Given the description of an element on the screen output the (x, y) to click on. 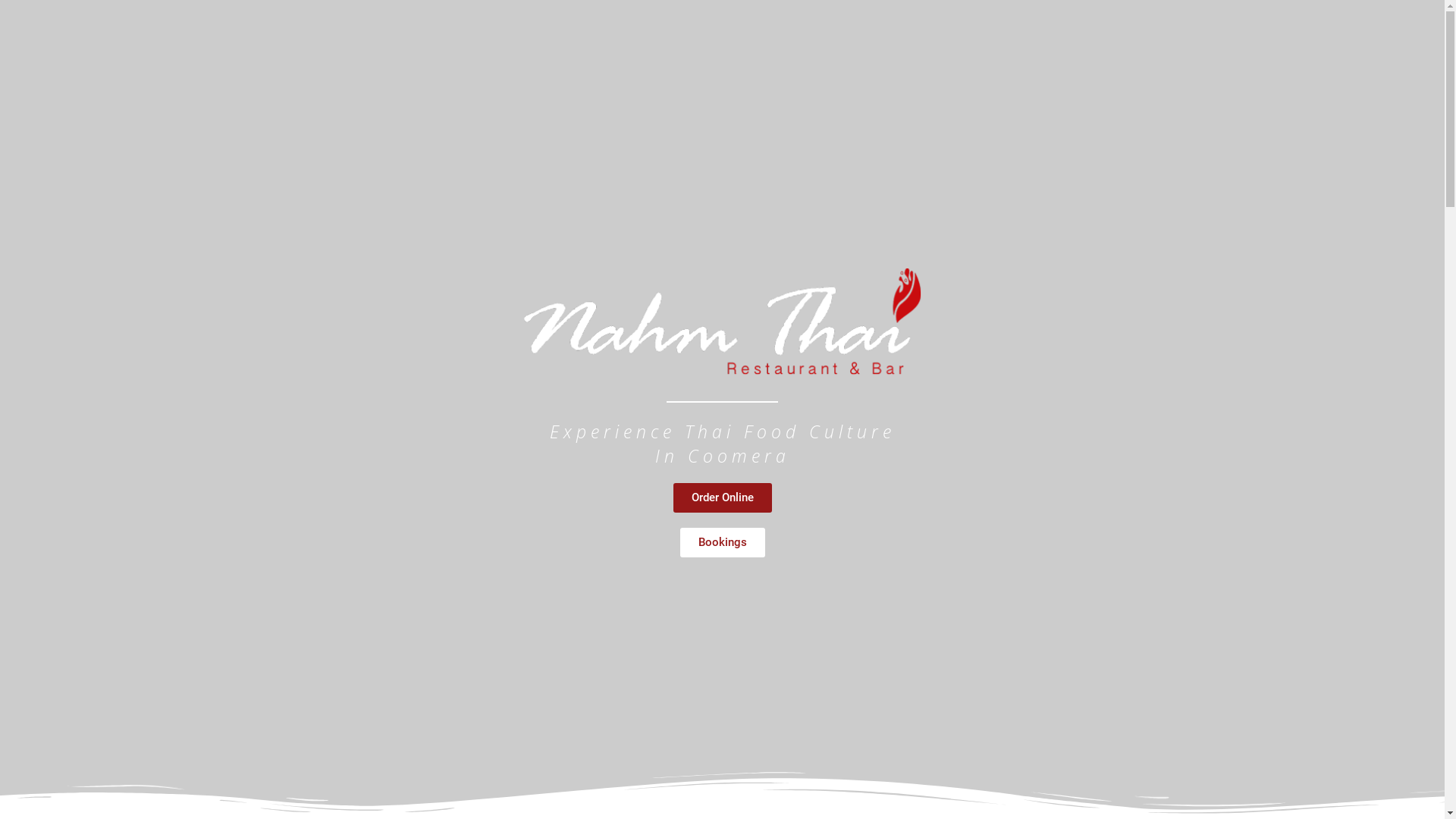
Order Online Element type: text (722, 497)
Bookings Element type: text (721, 542)
